Given the description of an element on the screen output the (x, y) to click on. 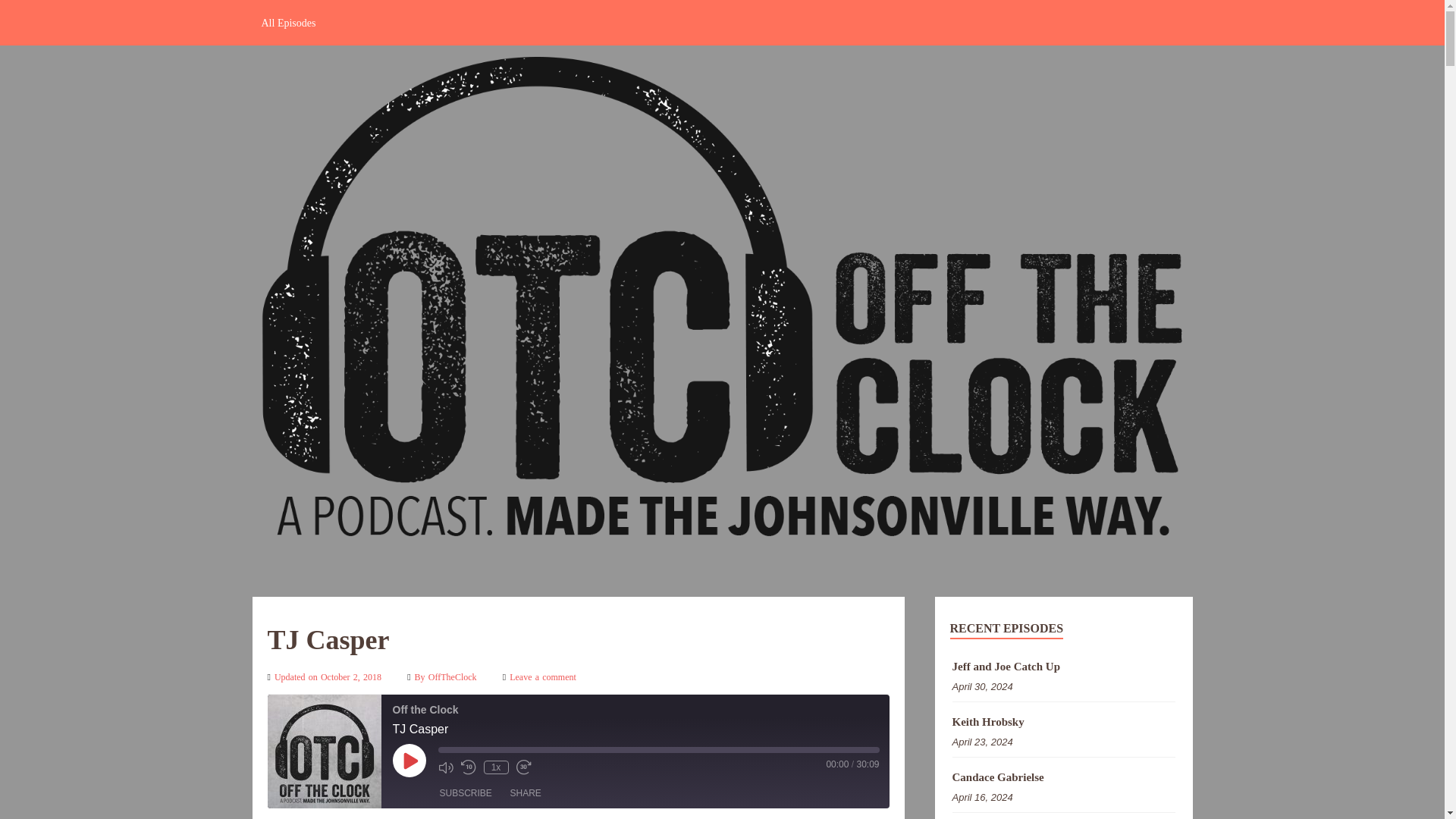
All Episodes (287, 22)
Off the Clock (323, 751)
OffTheClock (454, 676)
Off the Clock (721, 534)
Subscribe (465, 792)
Leave a comment (542, 676)
SHARE (525, 792)
Rewind 10 seconds (468, 767)
Candace Gabrielse (1063, 777)
Seek (658, 749)
1x (495, 766)
Keith Hrobsky (1063, 722)
Share (525, 792)
SUBSCRIBE (465, 792)
Fast Forward 30 seconds (523, 767)
